Given the description of an element on the screen output the (x, y) to click on. 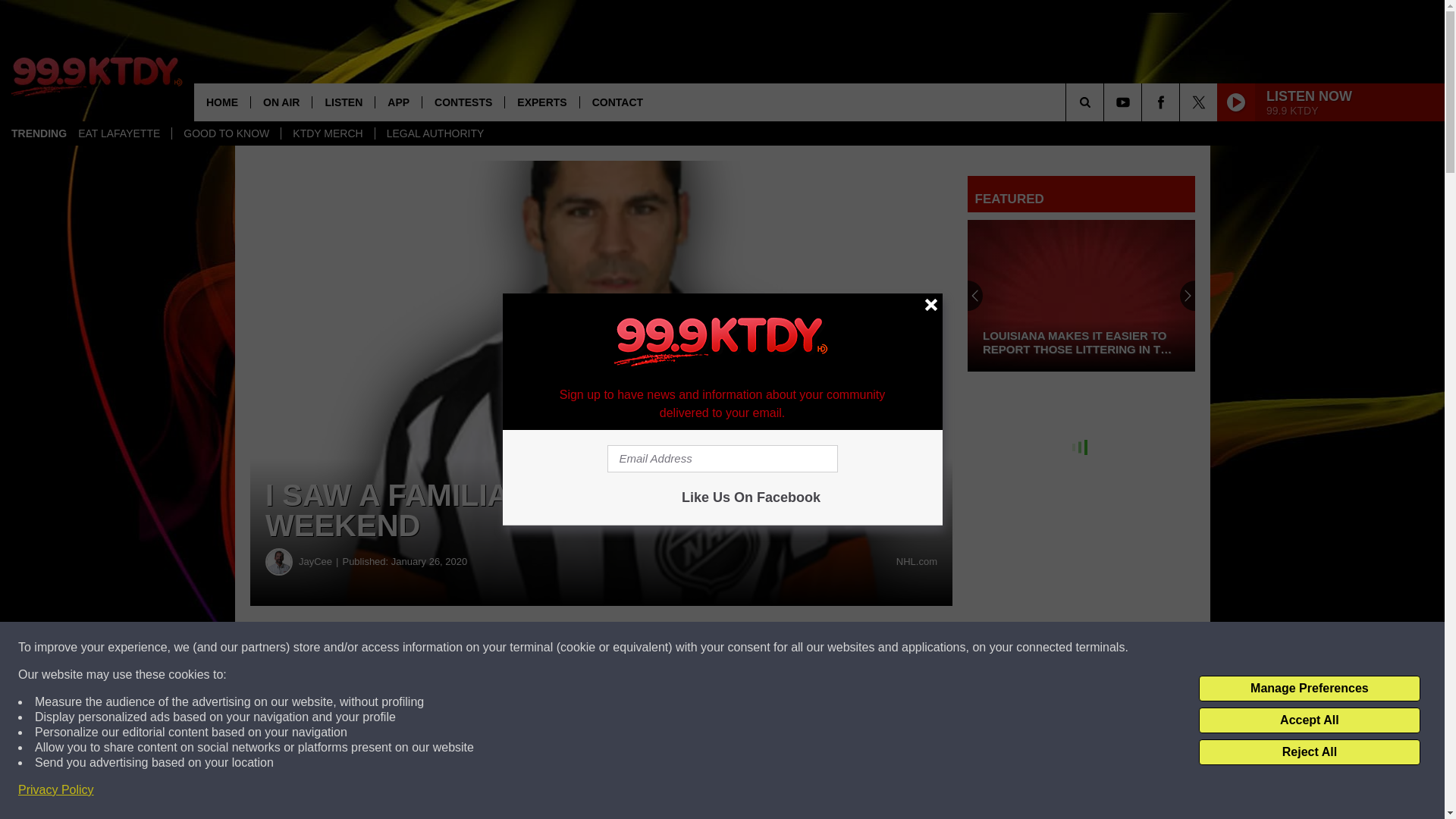
EAT LAFAYETTE (118, 133)
KTDY MERCH (327, 133)
SEARCH (1106, 102)
LISTEN (342, 102)
APP (398, 102)
Reject All (1309, 751)
HOME (221, 102)
CONTESTS (462, 102)
Share on Twitter (741, 647)
LEGAL AUTHORITY (435, 133)
Share on Facebook (460, 647)
SEARCH (1106, 102)
Accept All (1309, 720)
Privacy Policy (55, 789)
GOOD TO KNOW (226, 133)
